Given the description of an element on the screen output the (x, y) to click on. 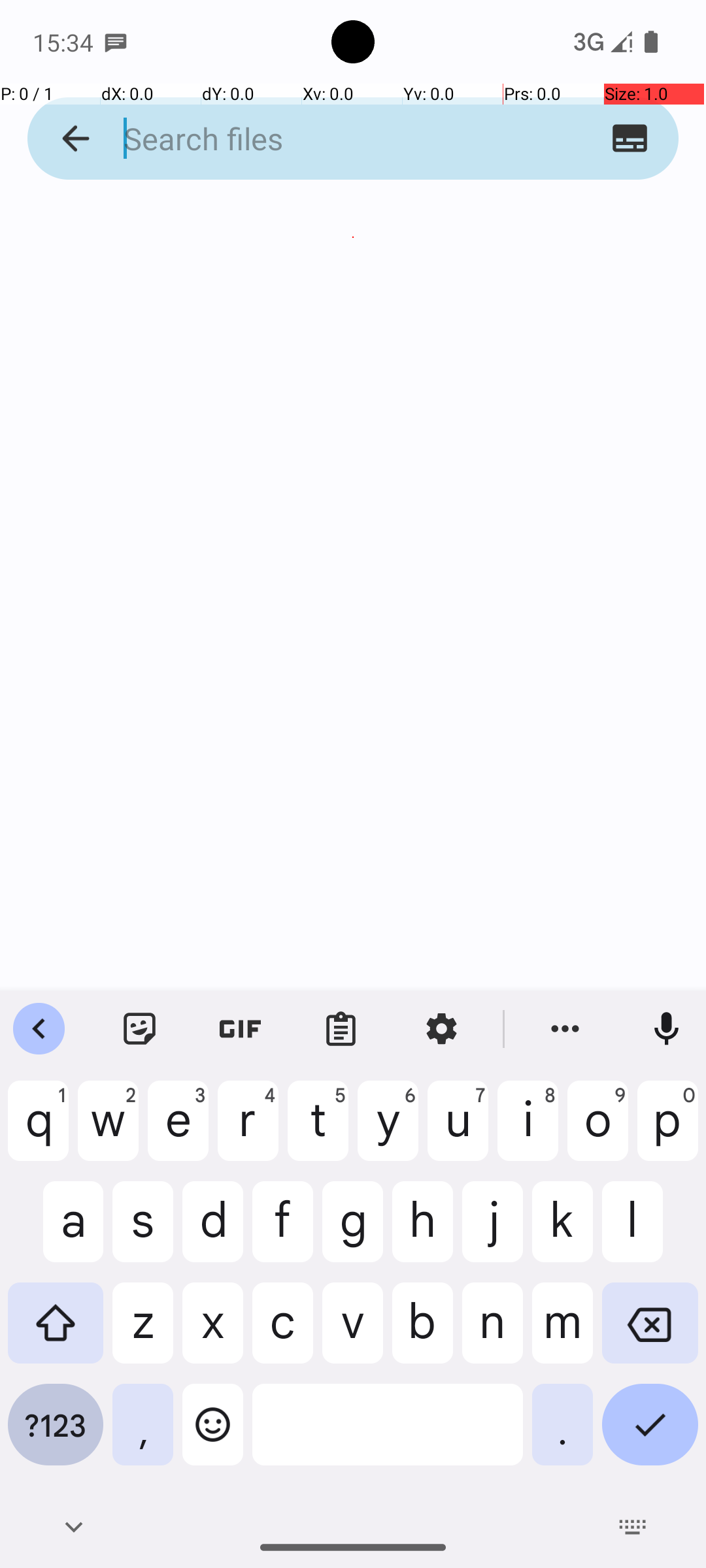
Search files Element type: android.widget.EditText (328, 138)
Toggle filename visibility Element type: android.widget.Button (629, 138)
